Given the description of an element on the screen output the (x, y) to click on. 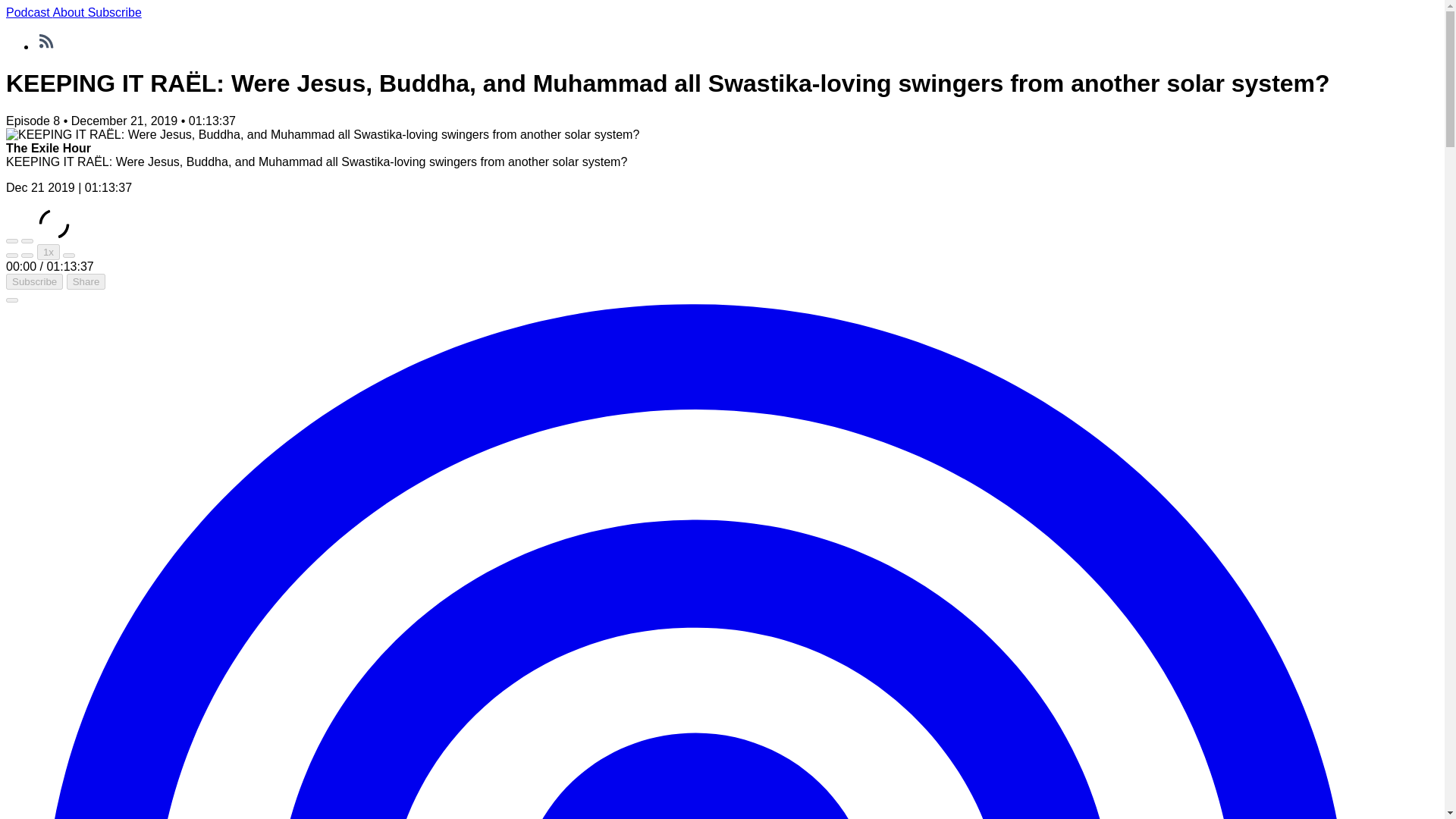
Share (86, 281)
About (69, 11)
Subscribe (114, 11)
Podcast (28, 11)
1x (48, 252)
Subscribe (33, 281)
